Given the description of an element on the screen output the (x, y) to click on. 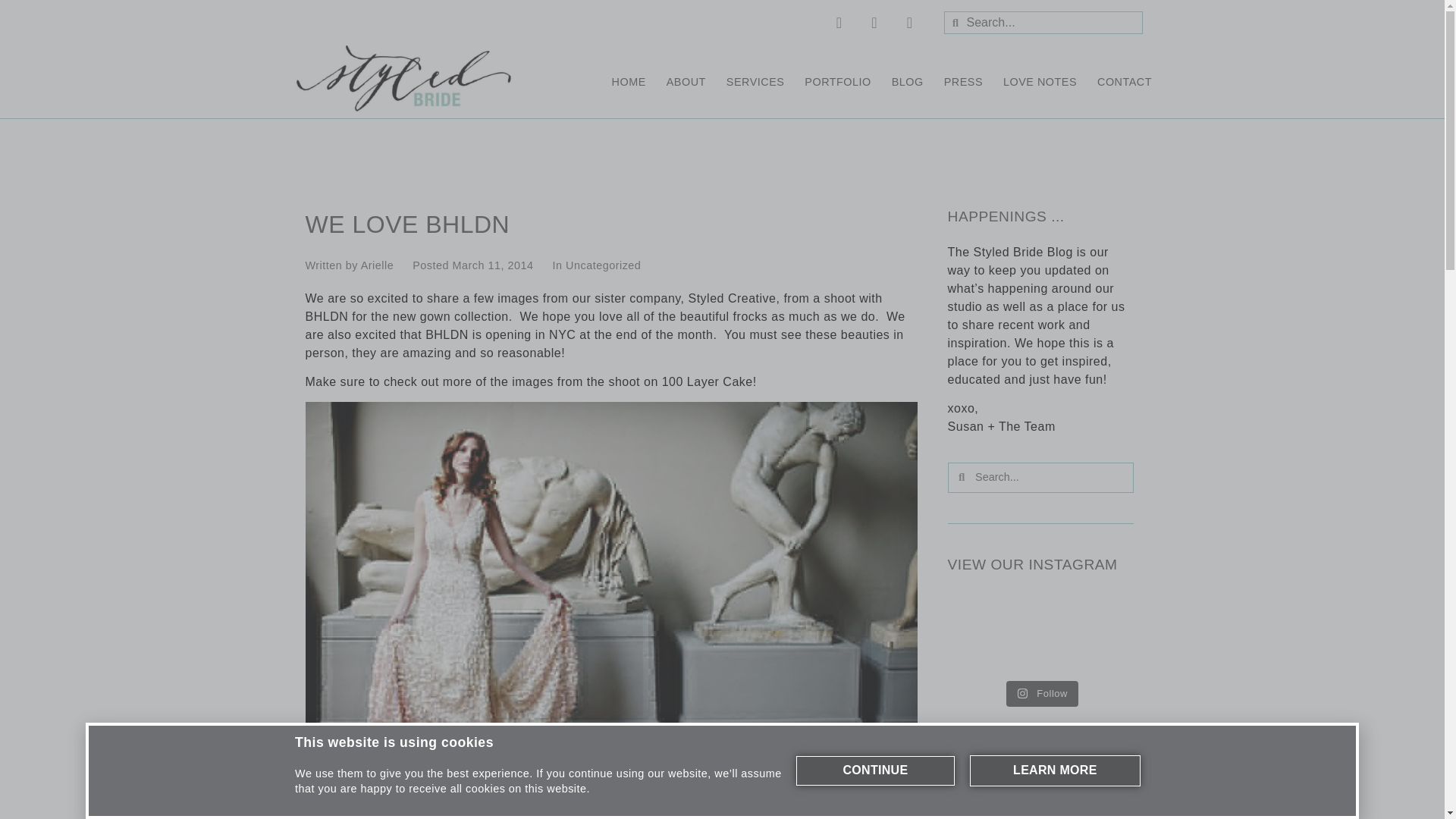
Reviews and Testimonials  (1039, 81)
About The Styled Bride  (685, 81)
100 Layer Cake (707, 381)
BLOG (907, 81)
Posted March 11, 2014 (472, 265)
ABOUT (685, 81)
Real Weddings (837, 81)
Partial and Full-Service Wedding Planning (755, 81)
LOVE NOTES (1039, 81)
PRESS (963, 81)
